Given the description of an element on the screen output the (x, y) to click on. 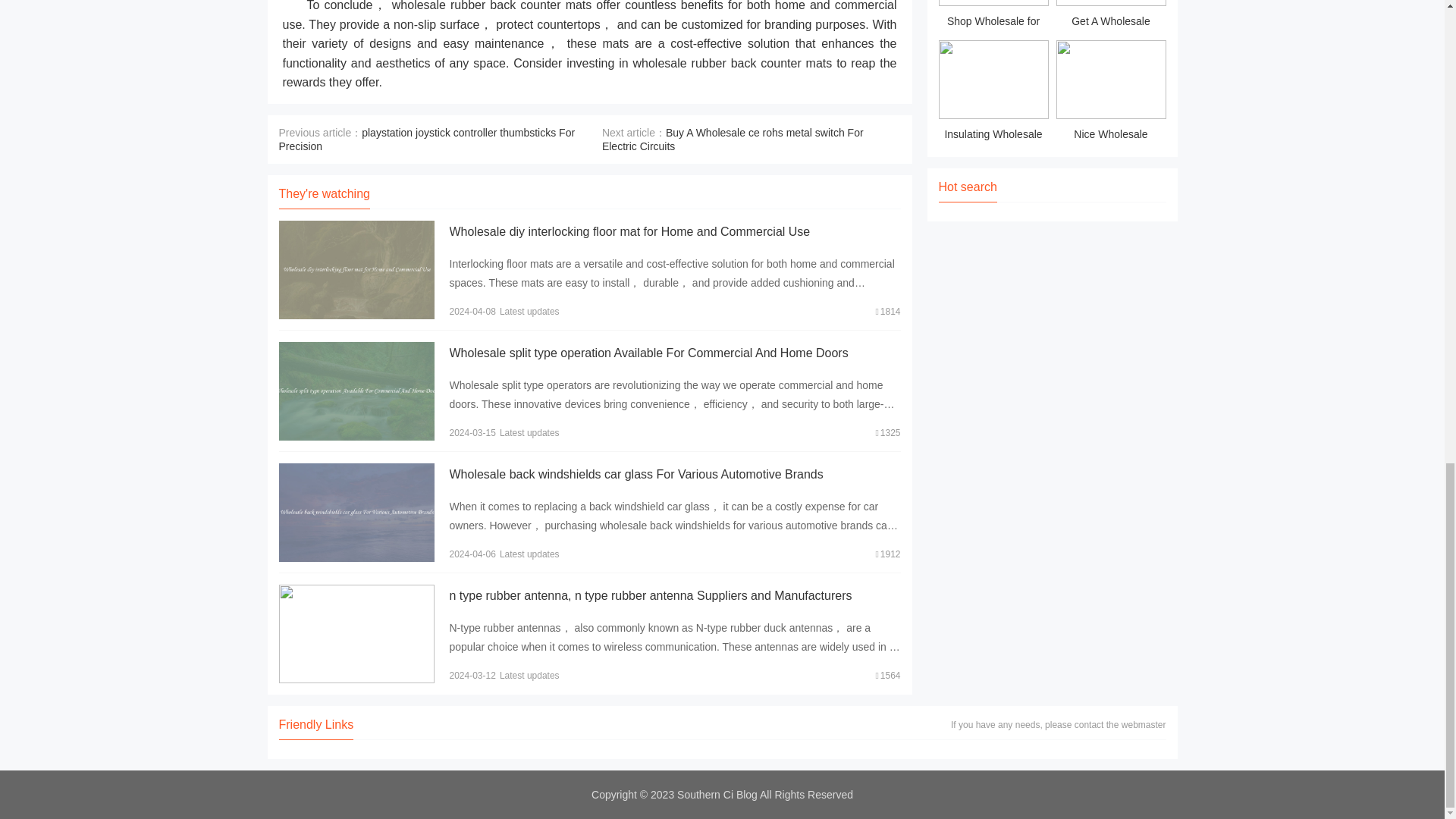
playstation joystick controller thumbsticks For Precision (427, 139)
Shop Wholesale for New, Used and Rebuilt crane parts bearing (993, 16)
Buy A Wholesale ce rohs metal switch For Electric Circuits (732, 139)
Get A Wholesale secure networks that For Property Protection (1110, 16)
